Given the description of an element on the screen output the (x, y) to click on. 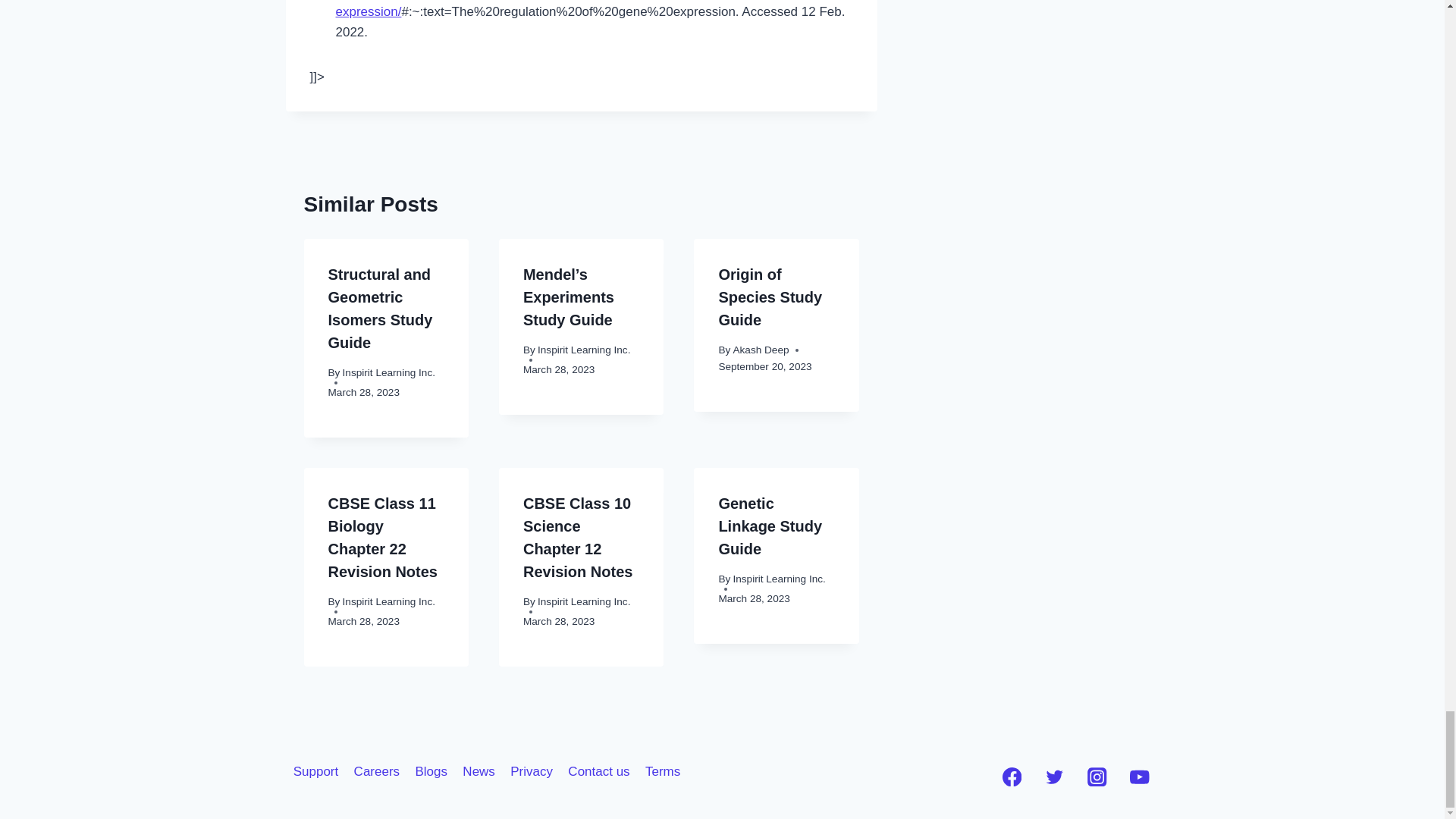
CBSE Class 11 Biology Chapter 22 Revision Notes (381, 537)
Origin of Species Study Guide (769, 297)
careers (376, 771)
Inspirit Learning Inc. (583, 349)
Structural and Geometric Isomers Study Guide (379, 308)
news (478, 771)
Inspirit Learning Inc. (388, 601)
Akash Deep (760, 349)
blogs (430, 771)
contact-us (598, 771)
support (315, 771)
terms (662, 771)
privacy (531, 771)
Inspirit Learning Inc. (388, 372)
